Given the description of an element on the screen output the (x, y) to click on. 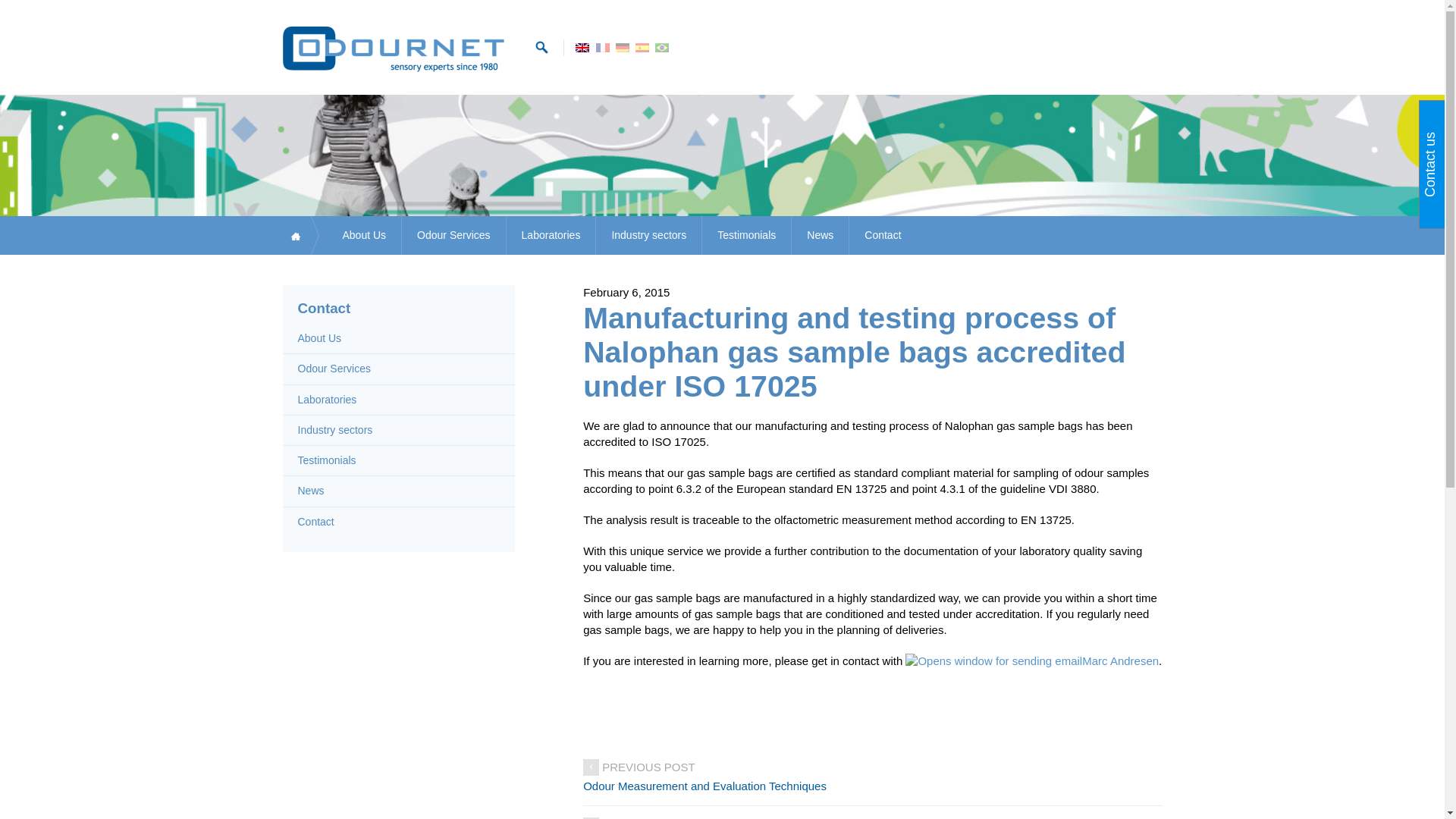
Industry sectors (648, 235)
Laboratories (550, 235)
Odour Measurement and Evaluation Techniques (872, 786)
Odour Services (453, 235)
Deutsch (621, 43)
About Us (364, 235)
English (582, 47)
Opens window for sending email (1031, 660)
